Given the description of an element on the screen output the (x, y) to click on. 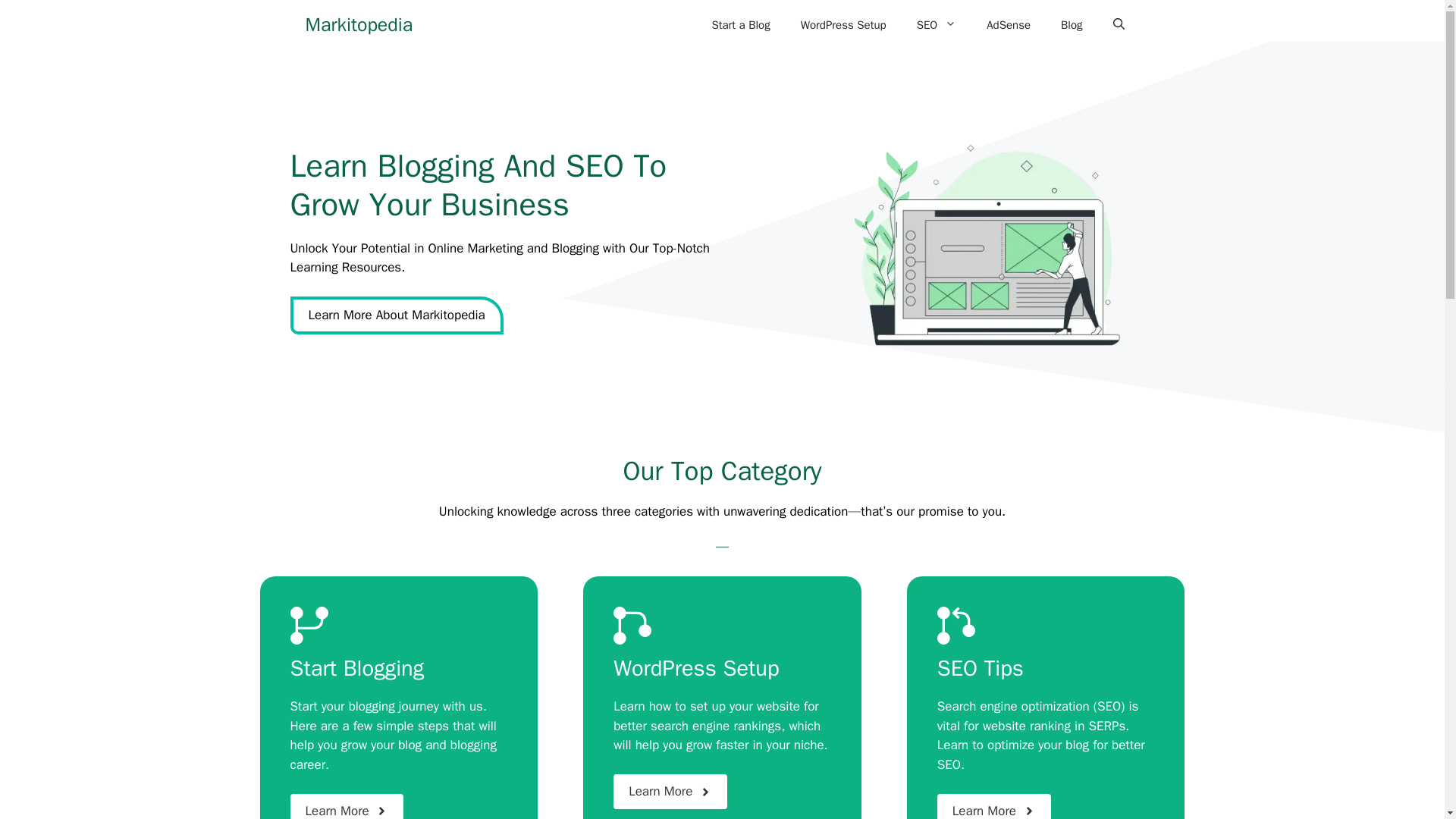
Start a Blog (739, 23)
Learn More (994, 806)
Markitopedia (358, 24)
AdSense (1008, 23)
Markitopedia-hero-section (993, 240)
Blog (1071, 23)
Learn More (669, 791)
Learn More About Markitopedia (395, 315)
WordPress Setup (843, 23)
SEO (936, 23)
Learn More (346, 806)
